Given the description of an element on the screen output the (x, y) to click on. 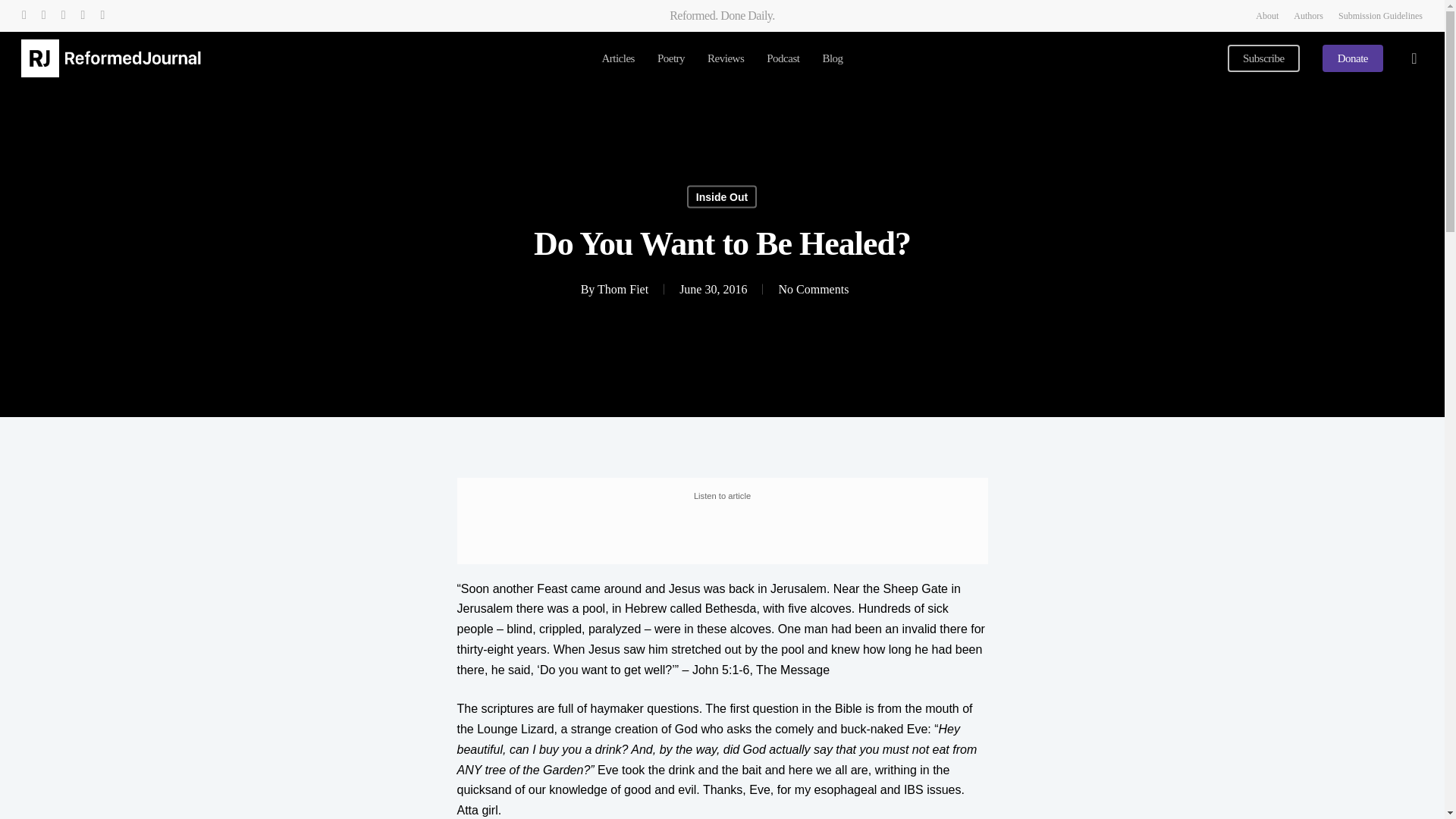
Poetry (671, 58)
Submission Guidelines (1380, 15)
No Comments (812, 288)
search (1414, 57)
Blog (832, 58)
Articles (617, 58)
Donate (1352, 58)
Authors (1308, 15)
Subscribe (1263, 58)
Reviews (725, 58)
